Given the description of an element on the screen output the (x, y) to click on. 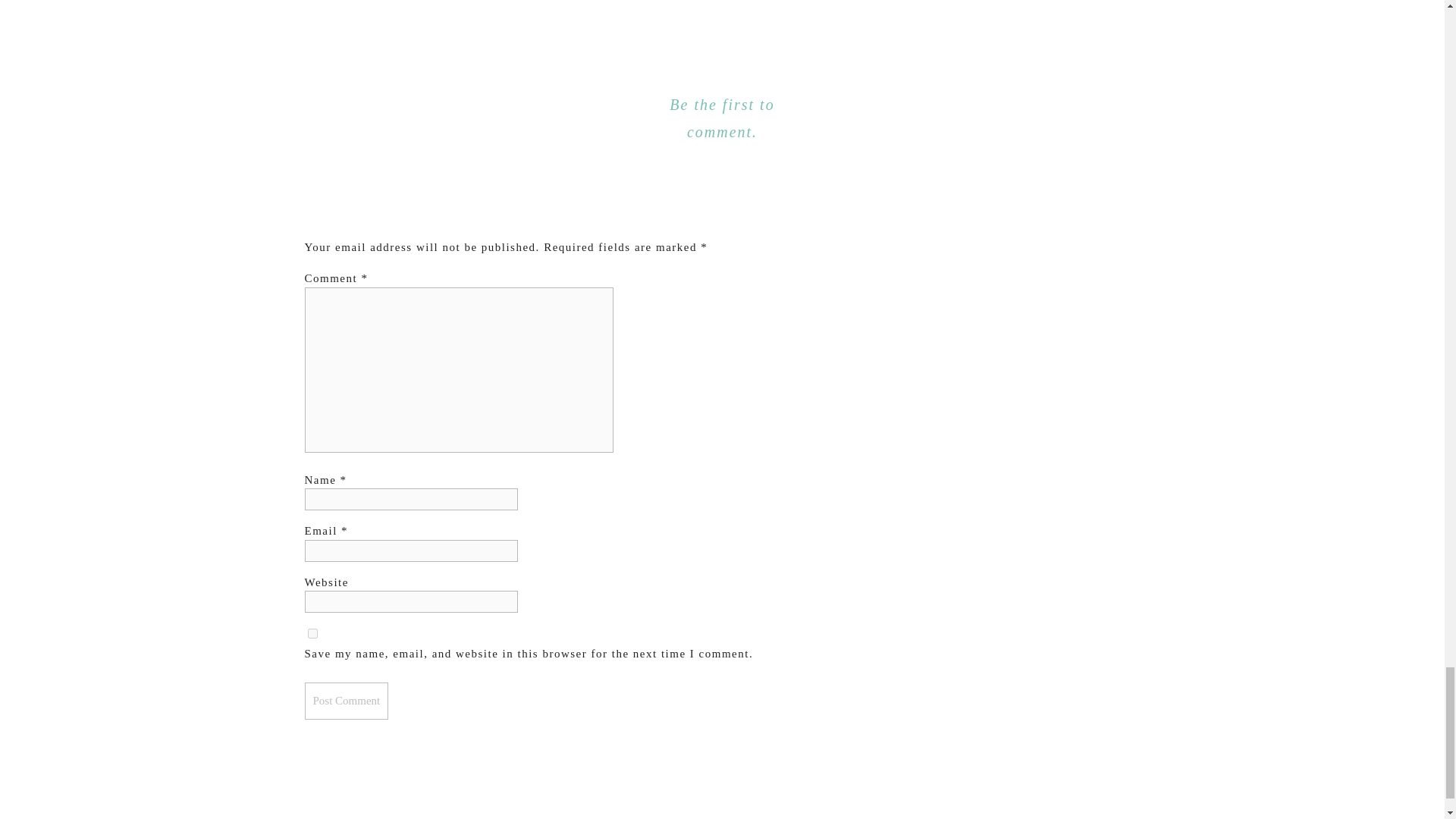
Post Comment (346, 700)
yes (312, 633)
Be the first to comment. (721, 118)
Post Comment (346, 700)
